Given the description of an element on the screen output the (x, y) to click on. 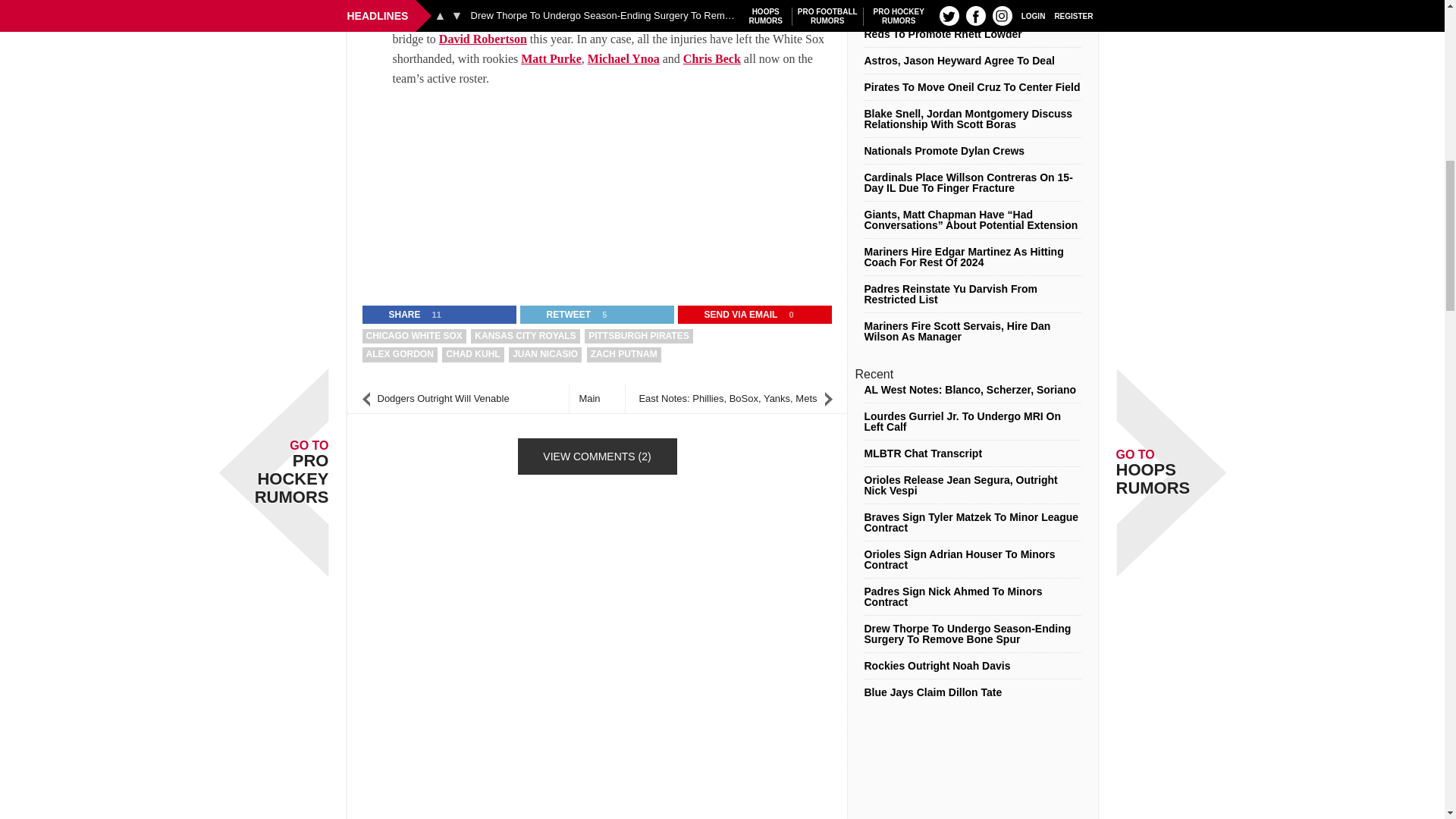
Send Central Notes: Gordon, Kuhl, Putnam with an email (732, 314)
Retweet 'Central Notes: Gordon, Kuhl, Putnam' on Twitter (558, 314)
Share 'Central Notes: Gordon, Kuhl, Putnam' on Facebook (395, 314)
